Given the description of an element on the screen output the (x, y) to click on. 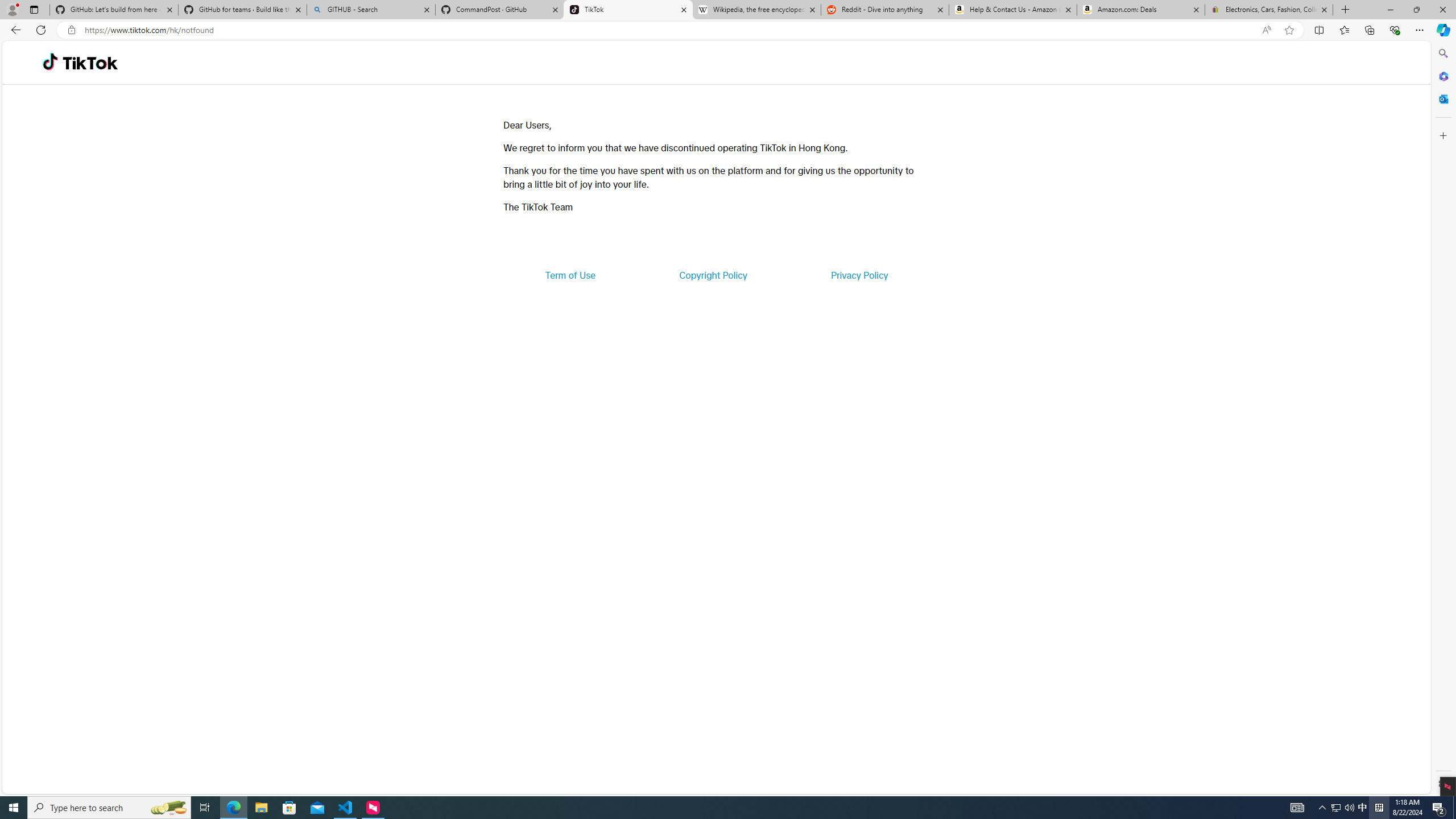
GITHUB - Search (370, 9)
Privacy Policy (858, 274)
